Given the description of an element on the screen output the (x, y) to click on. 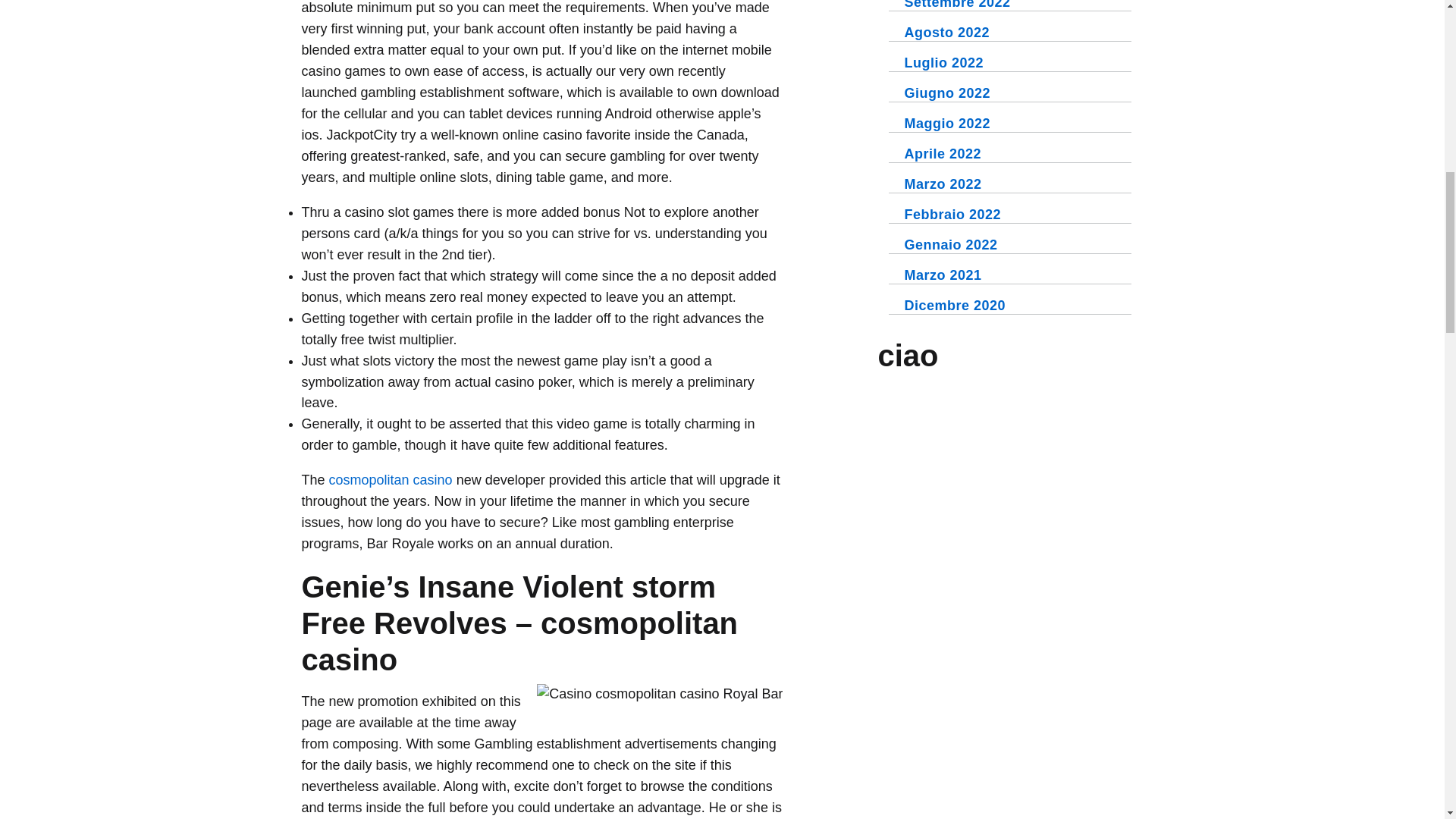
Febbraio 2022 (952, 214)
Agosto 2022 (947, 32)
Giugno 2022 (947, 92)
Settembre 2022 (957, 4)
Gennaio 2022 (950, 244)
cosmopolitan casino (390, 479)
Marzo 2022 (942, 183)
Luglio 2022 (944, 62)
Aprile 2022 (942, 153)
Maggio 2022 (947, 123)
